Given the description of an element on the screen output the (x, y) to click on. 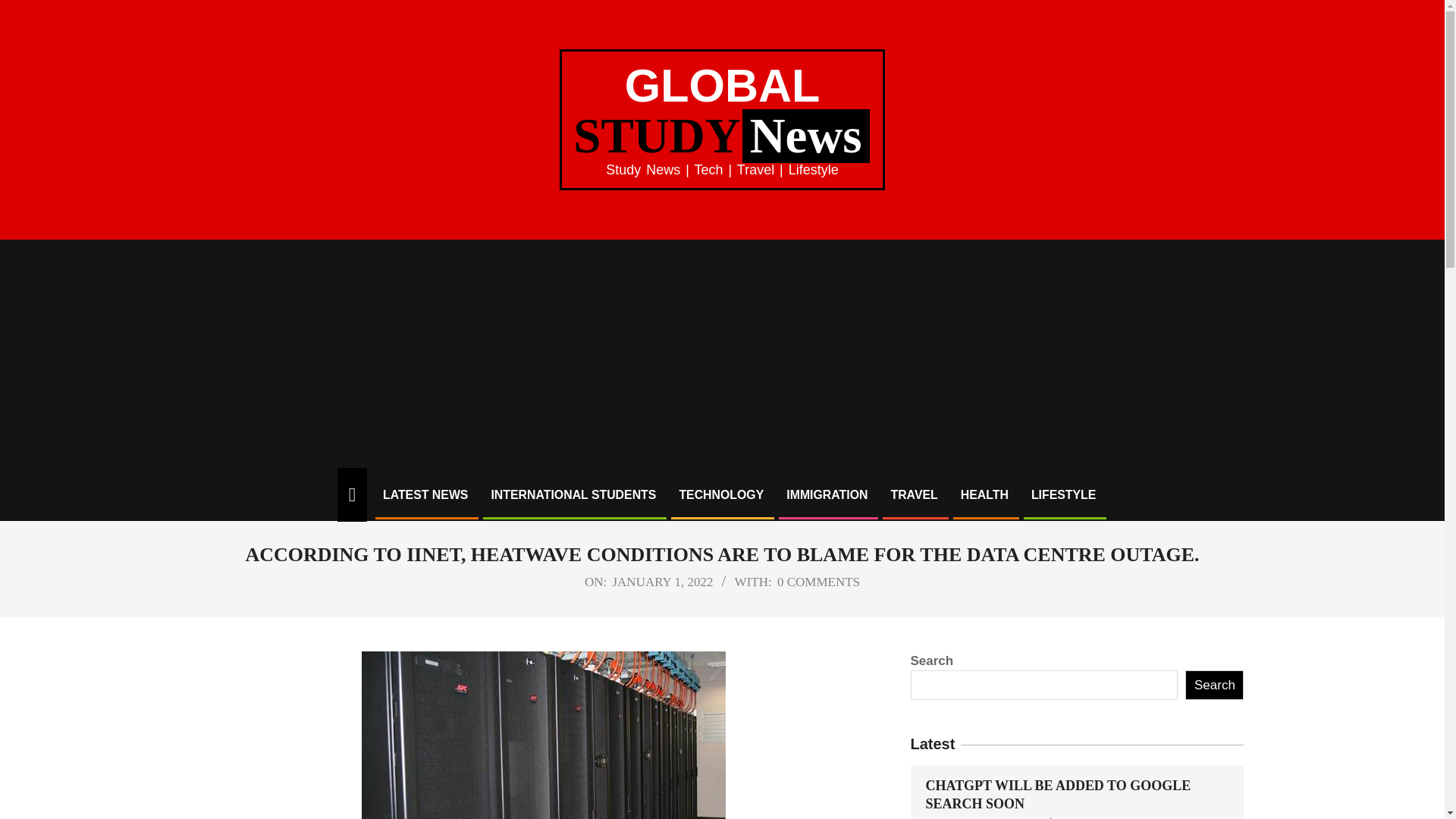
TECHNOLOGY (720, 494)
IMMIGRATION (826, 494)
0 COMMENTS (818, 581)
Saturday, January 1, 2022, 10:20 am (662, 581)
HEALTH (984, 494)
Search (721, 112)
0 COMMENTS (1214, 685)
INTERNATIONAL STUDENTS (1127, 818)
